Given the description of an element on the screen output the (x, y) to click on. 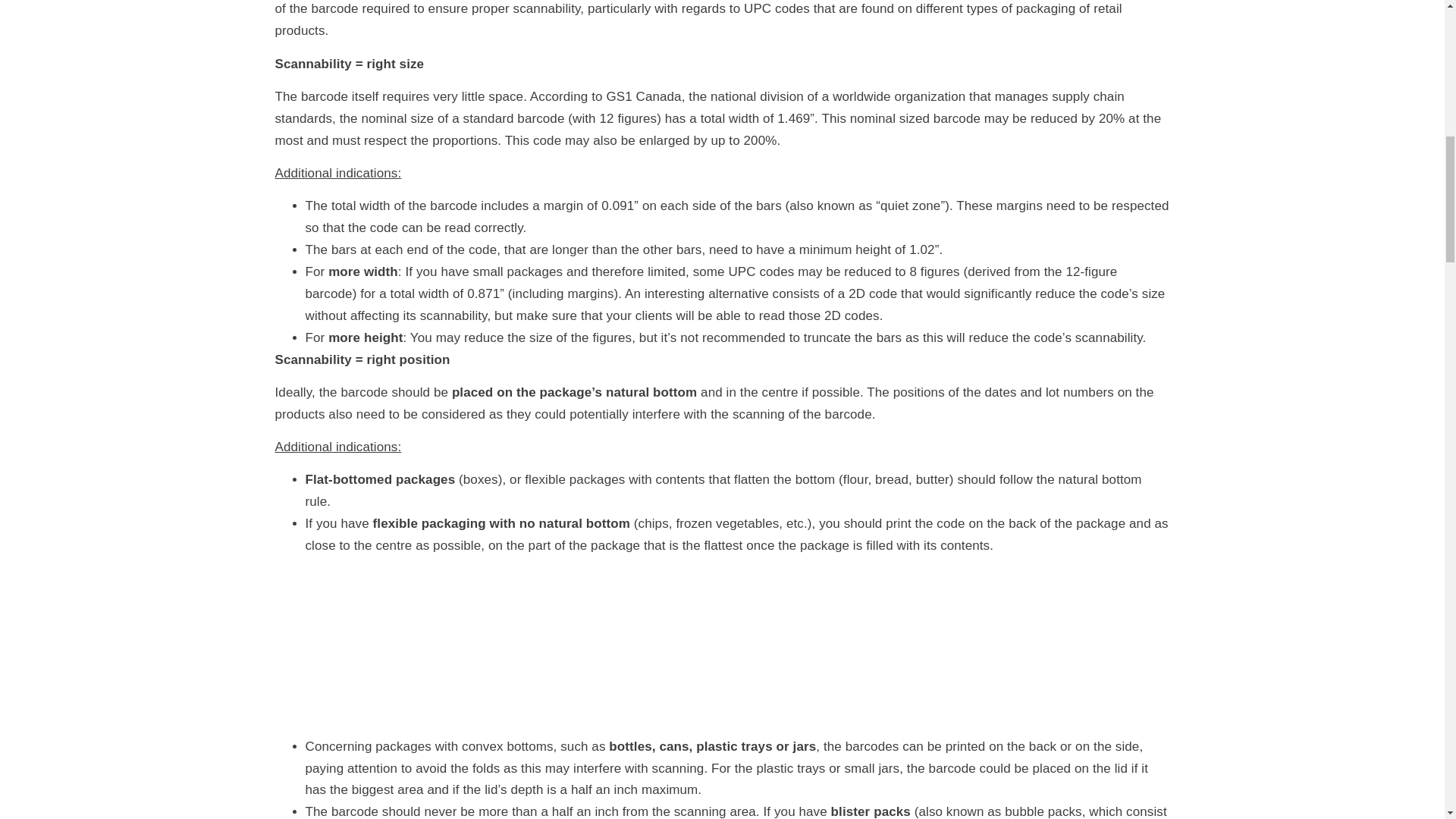
Flexible packaging (458, 642)
